Given the description of an element on the screen output the (x, y) to click on. 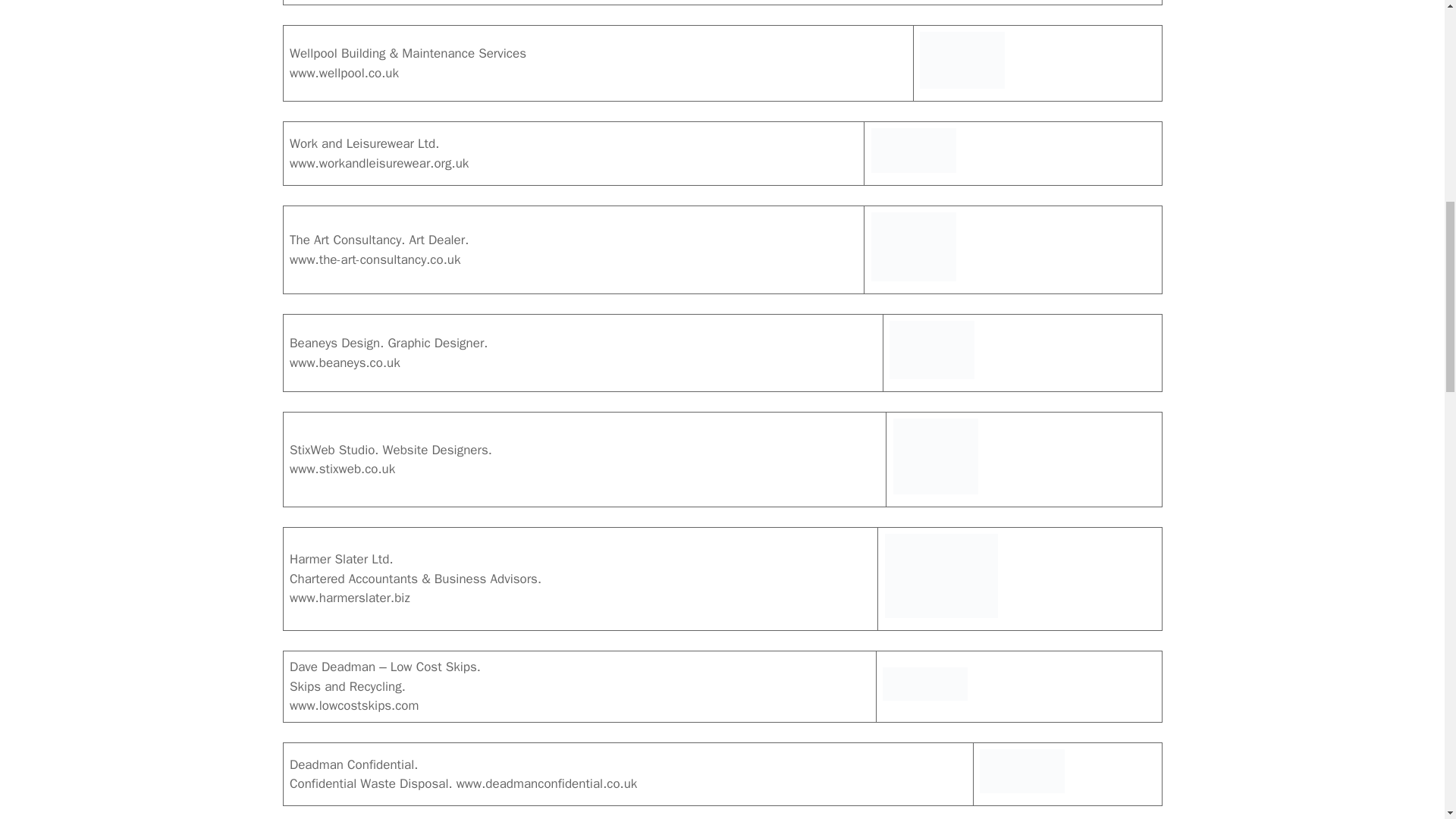
www.deadmanconfidential.co.uk (547, 783)
www.stixweb.co.uk (341, 468)
www.beaneys.co.uk (344, 362)
www.wellpool.co.uk (343, 73)
www.lowcostskips.com (354, 705)
www.workandleisurewear.org.uk (378, 163)
www.harmerslater.biz (349, 597)
www.the-art-consultancy.co.uk (374, 259)
Scroll back to top (1406, 720)
